Given the description of an element on the screen output the (x, y) to click on. 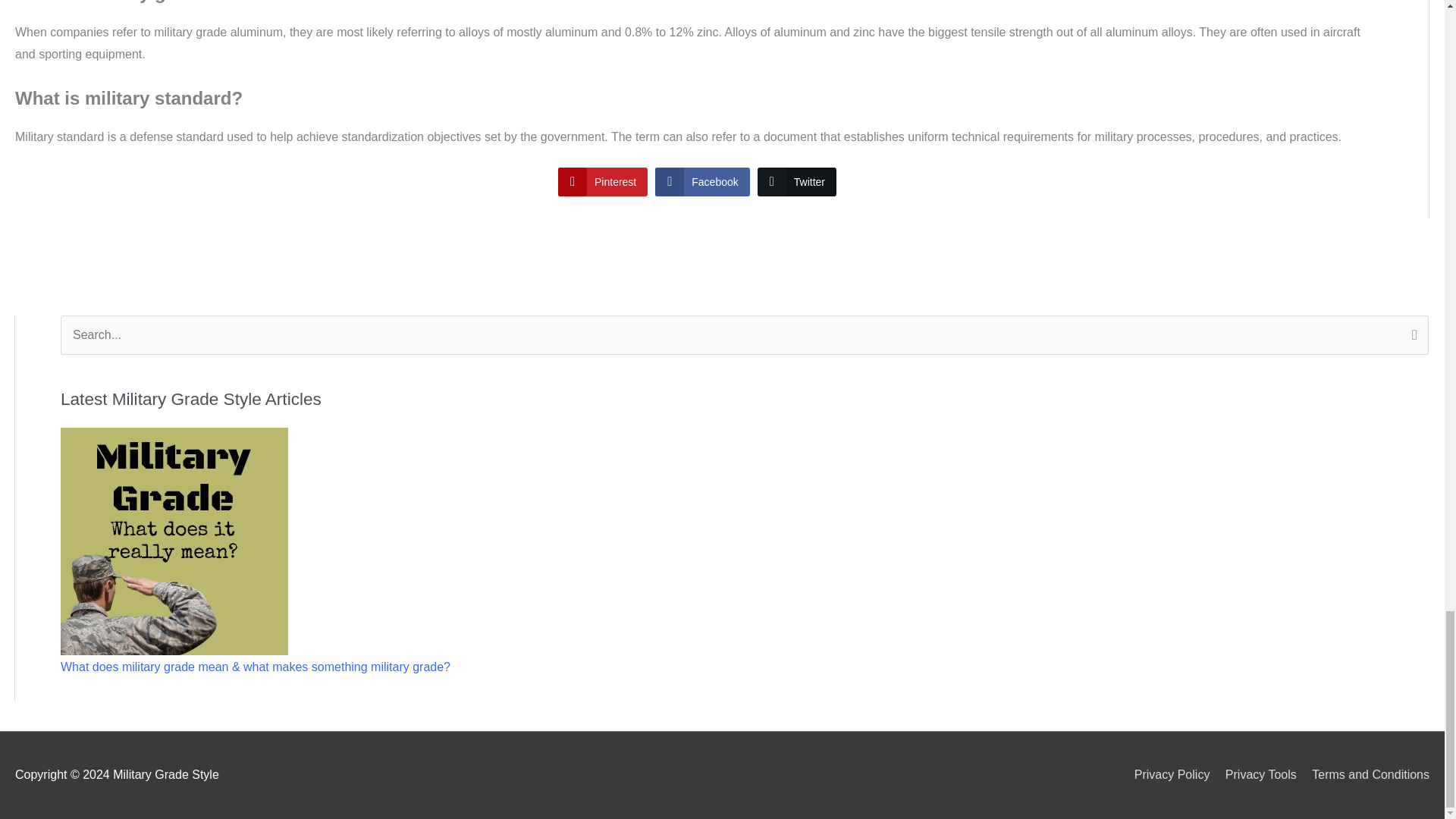
Privacy Tools (1254, 774)
Facebook (702, 181)
Privacy Policy (1165, 774)
Pinterest (602, 181)
Terms and Conditions (1364, 774)
Twitter (796, 181)
